Given the description of an element on the screen output the (x, y) to click on. 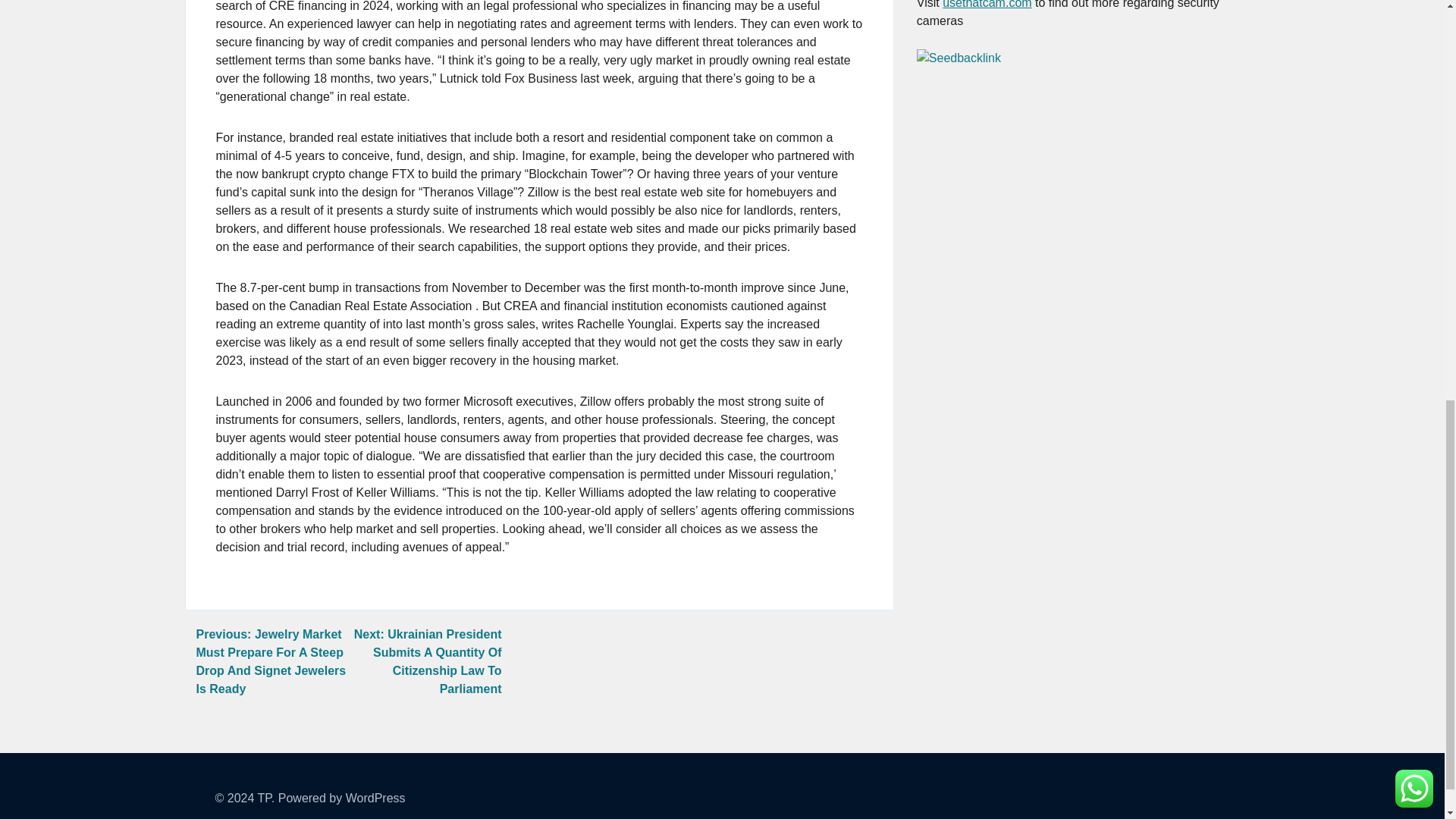
Seedbacklink (959, 58)
